Given the description of an element on the screen output the (x, y) to click on. 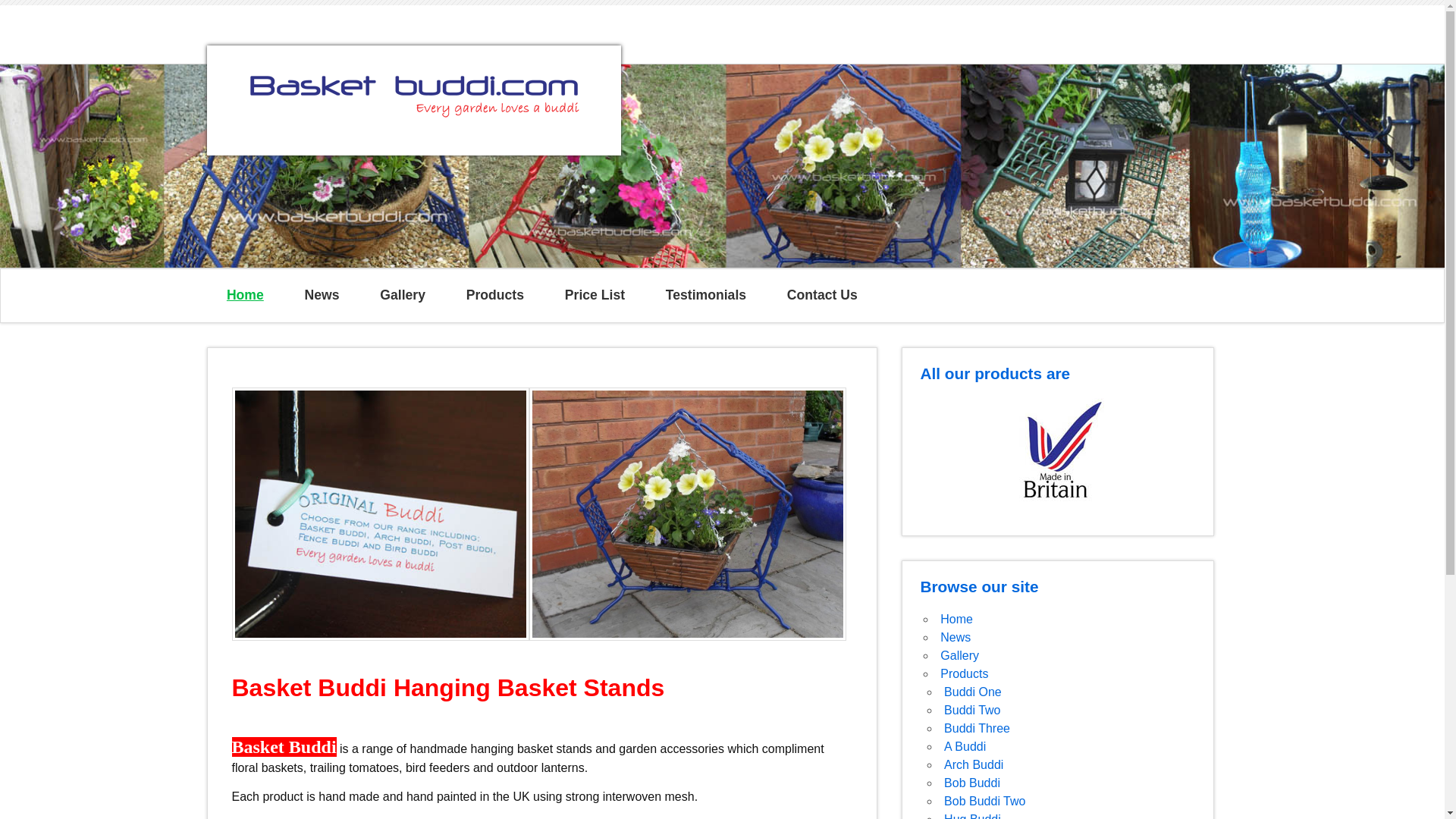
Contact Us (822, 295)
Basket Buddi (413, 124)
Gallery (402, 295)
Buddi Two (971, 709)
A Buddi (964, 746)
Arch Buddi (973, 764)
All products Made in Britain (1058, 454)
Bob Buddi Two (984, 800)
Products (964, 673)
Buddi One (972, 691)
Gallery (959, 655)
News (321, 295)
Testimonials (705, 295)
Products (494, 295)
Home (956, 618)
